Given the description of an element on the screen output the (x, y) to click on. 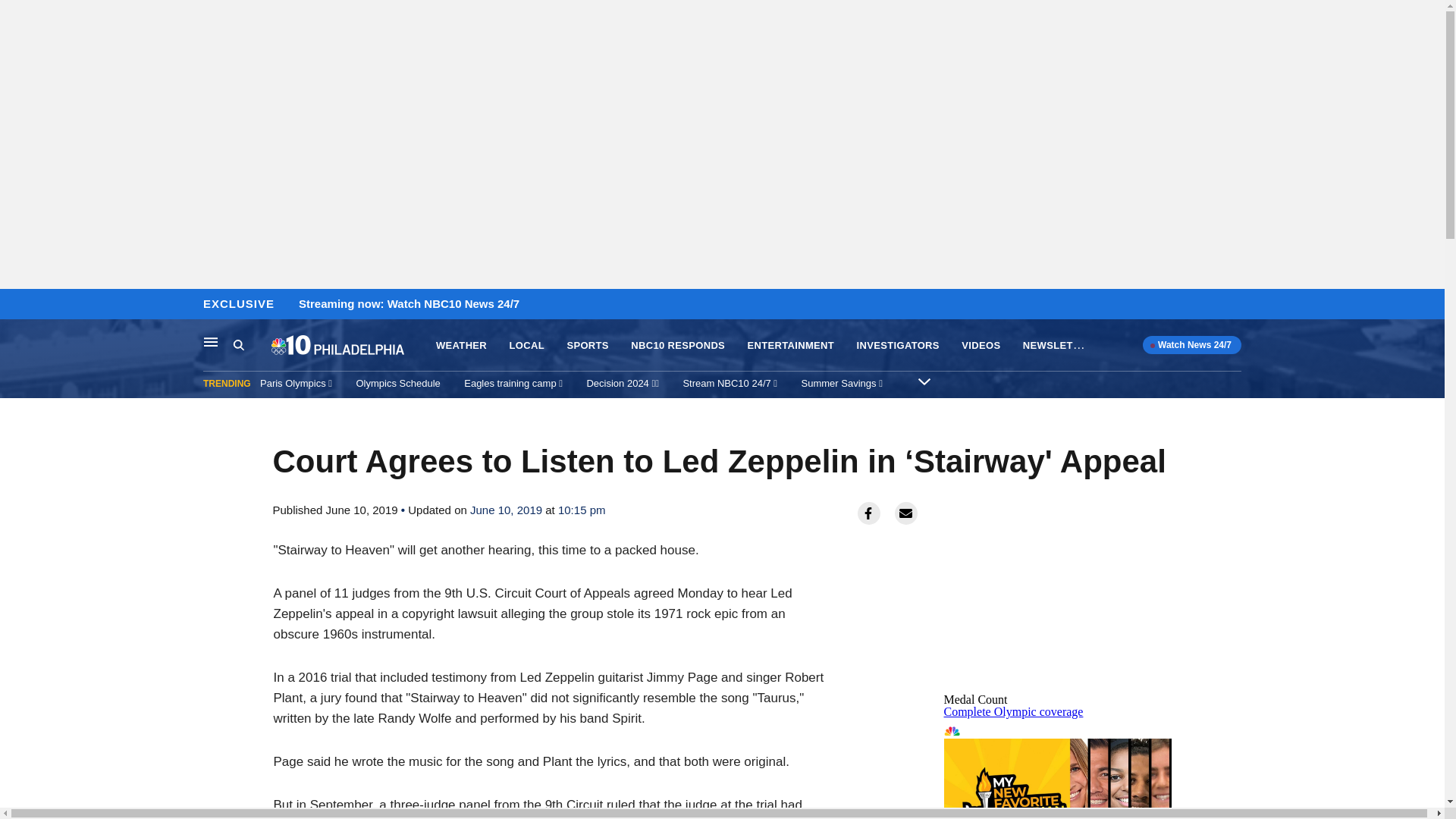
NBC10 RESPONDS (677, 345)
Main Navigation (210, 341)
Search (252, 345)
NEWSLETTERS (1061, 344)
WEATHER (460, 345)
SPORTS (587, 345)
Skip to content (16, 304)
Olympics Schedule (398, 383)
ENTERTAINMENT (791, 345)
VIDEOS (980, 345)
INVESTIGATORS (898, 345)
Search (238, 344)
Complete Olympic coverage (1013, 711)
LOCAL (1056, 768)
